Given the description of an element on the screen output the (x, y) to click on. 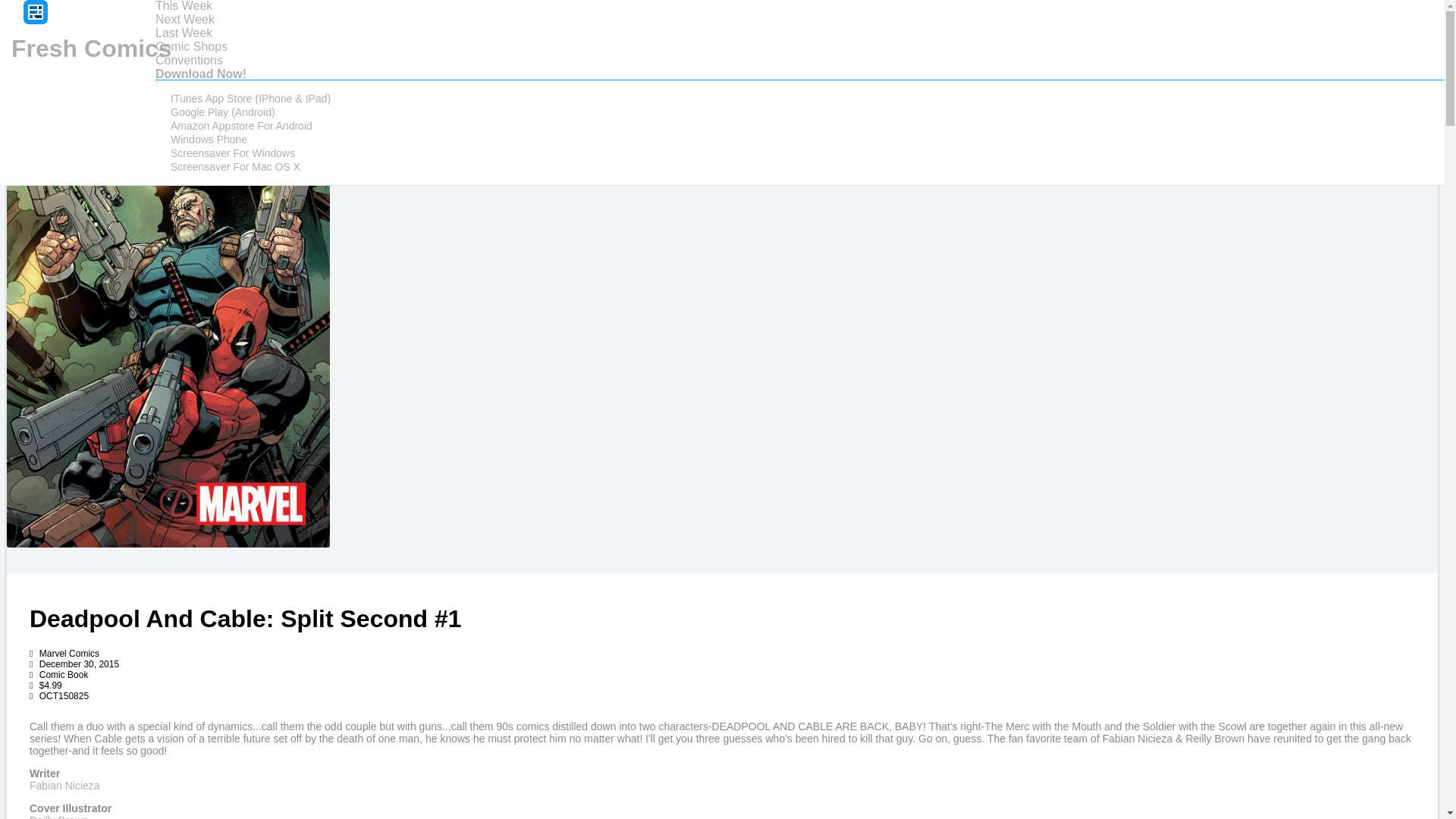
Fabian Nicieza (64, 785)
Comic Shops (191, 46)
Download Now! (200, 73)
Screensaver For Mac OS X (235, 166)
Reilly Brown (58, 816)
Screensaver For Windows (232, 152)
This Week (183, 6)
Fresh Comics (91, 48)
Conventions (188, 60)
Amazon Appstore For Android (241, 125)
Next Week (184, 19)
December 30, 2015 (74, 664)
Windows Phone (208, 139)
Last Week (183, 32)
